Given the description of an element on the screen output the (x, y) to click on. 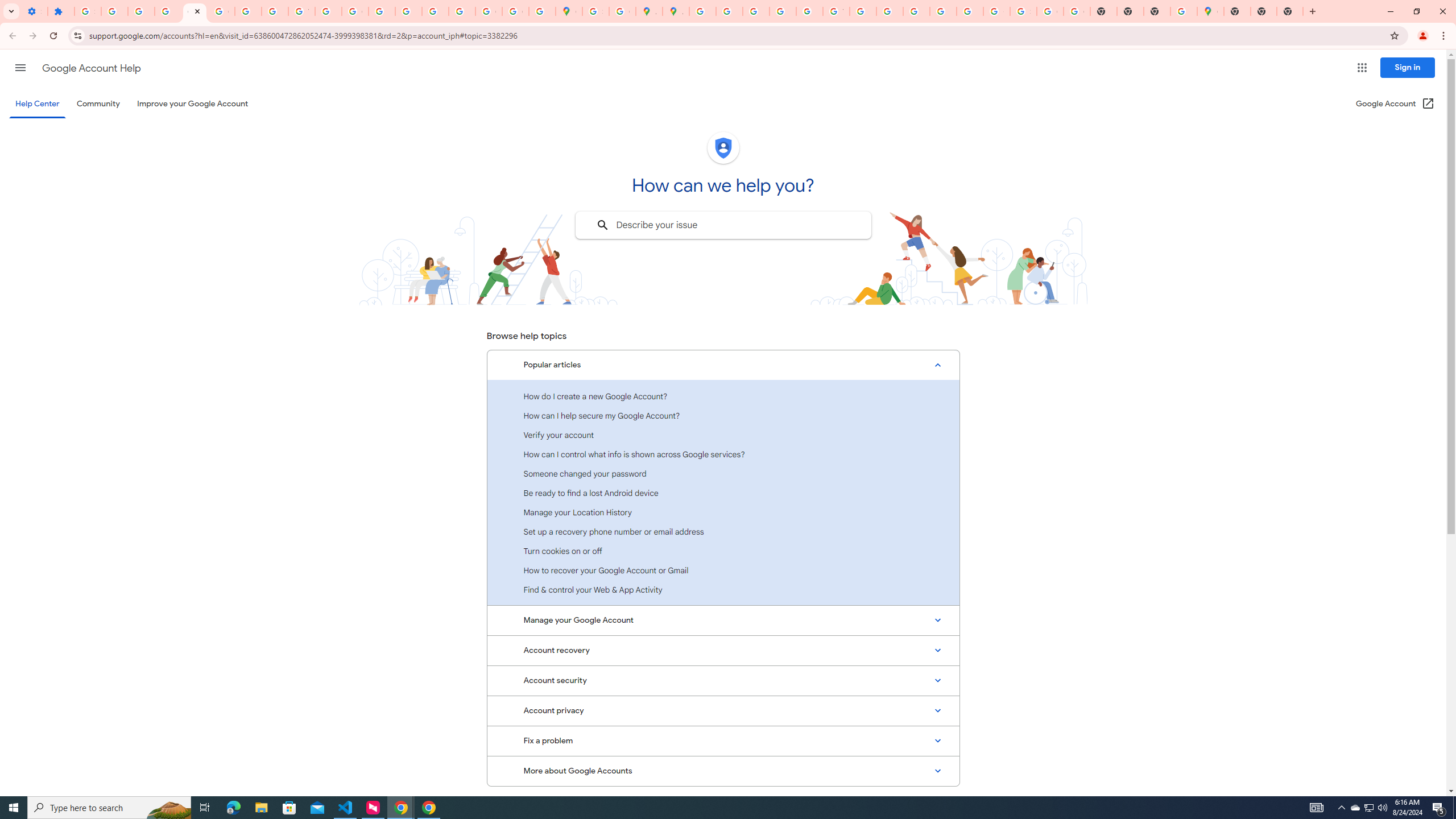
Use Google Maps in Space - Google Maps Help (1183, 11)
YouTube (836, 11)
Google Maps (569, 11)
New Tab (1236, 11)
New Tab (1289, 11)
Google Account Help (194, 11)
Account security (722, 680)
Fix a problem (722, 740)
Account recovery (722, 650)
